Given the description of an element on the screen output the (x, y) to click on. 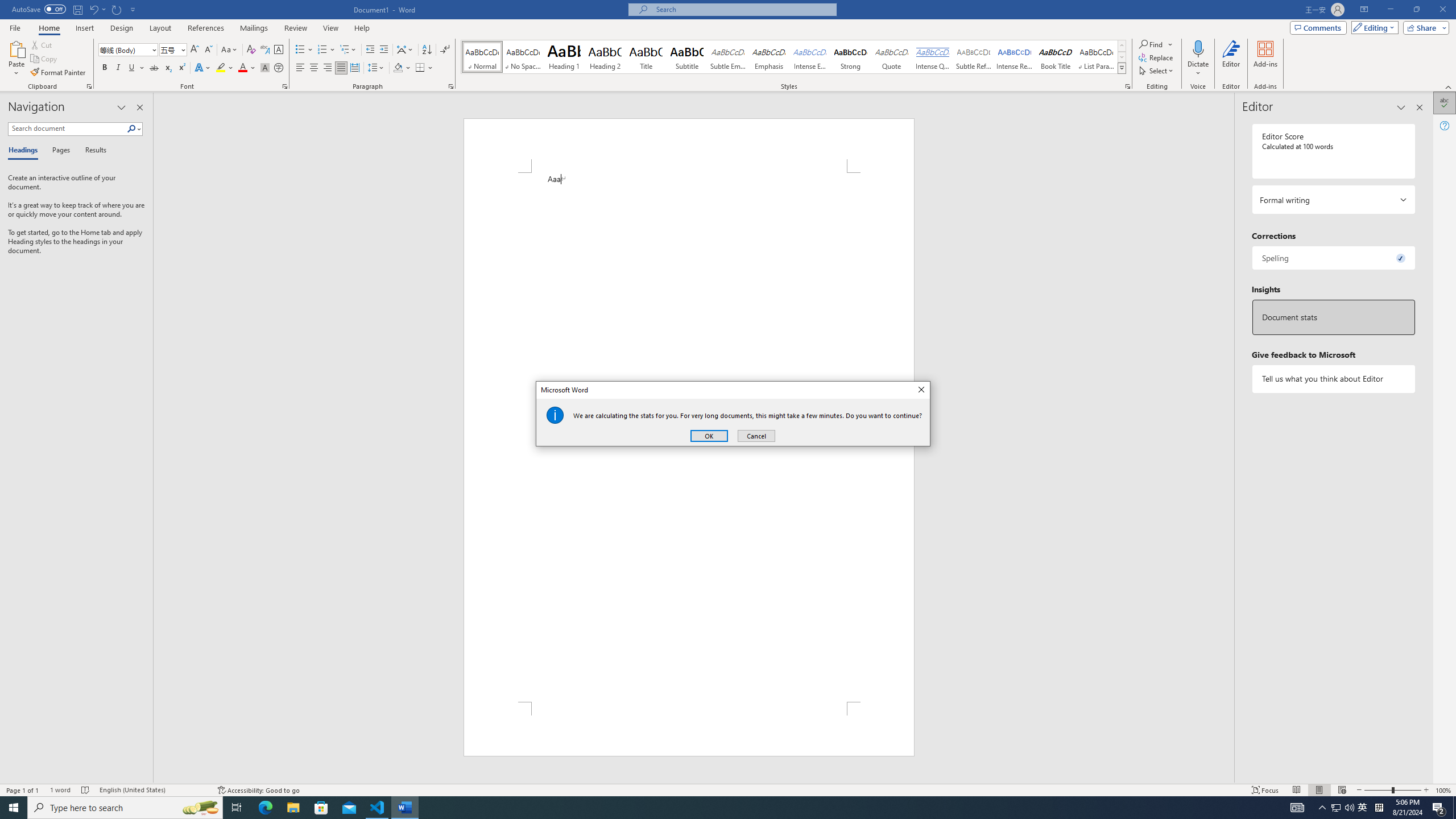
Microsoft Edge (265, 807)
Show desktop (1454, 807)
Action Center, 2 new notifications (1439, 807)
Start (1362, 807)
Search highlights icon opens search home window (13, 807)
Visual Studio Code - 1 running window (199, 807)
Close (377, 807)
